Given the description of an element on the screen output the (x, y) to click on. 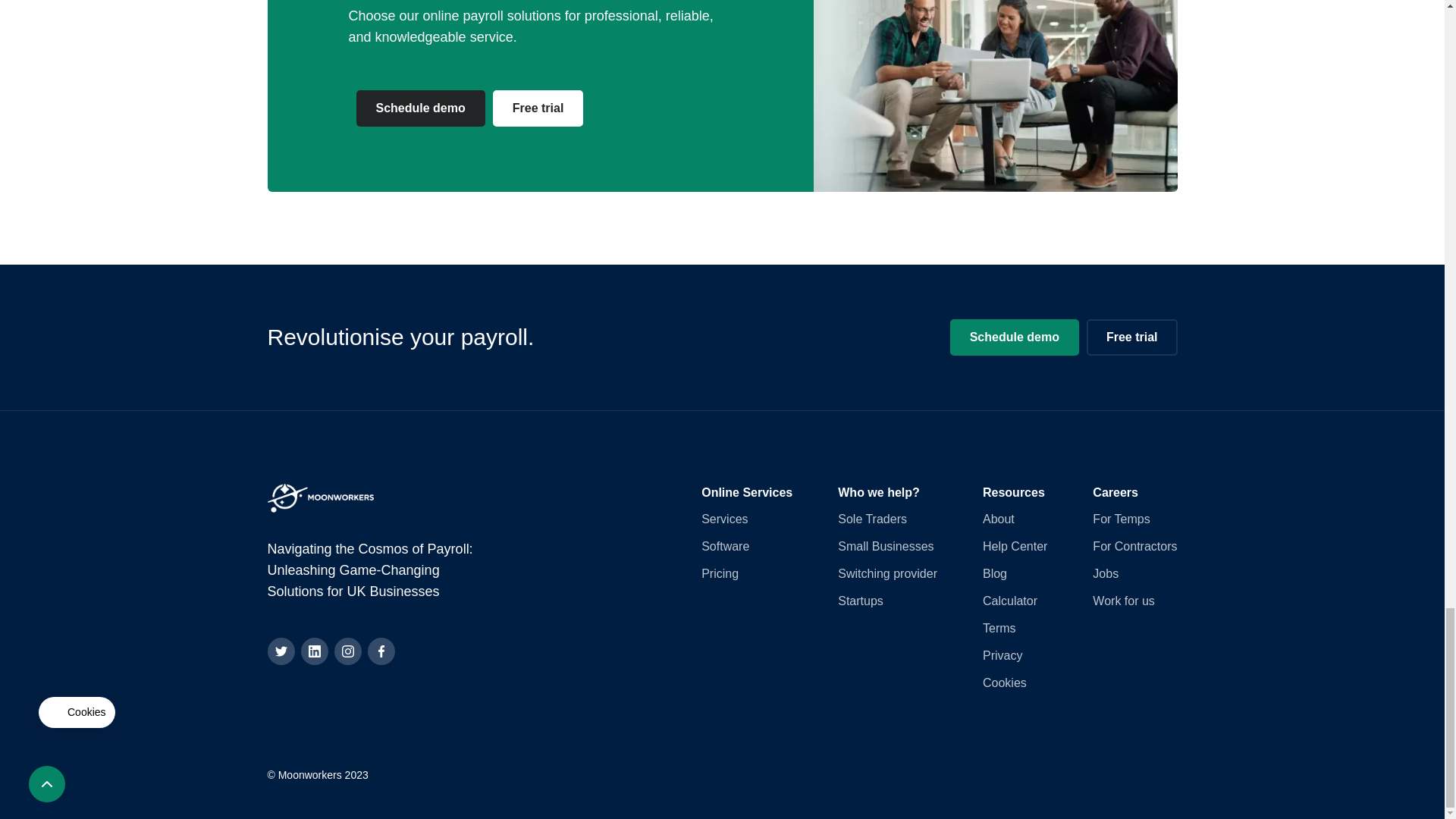
Software (725, 545)
Schedule demo (1014, 337)
Services (724, 518)
Pricing (719, 573)
Sole Traders (872, 518)
Free trial (538, 108)
Schedule demo (420, 108)
Switching provider (887, 573)
Small Businesses (885, 545)
Free trial (1131, 337)
